Given the description of an element on the screen output the (x, y) to click on. 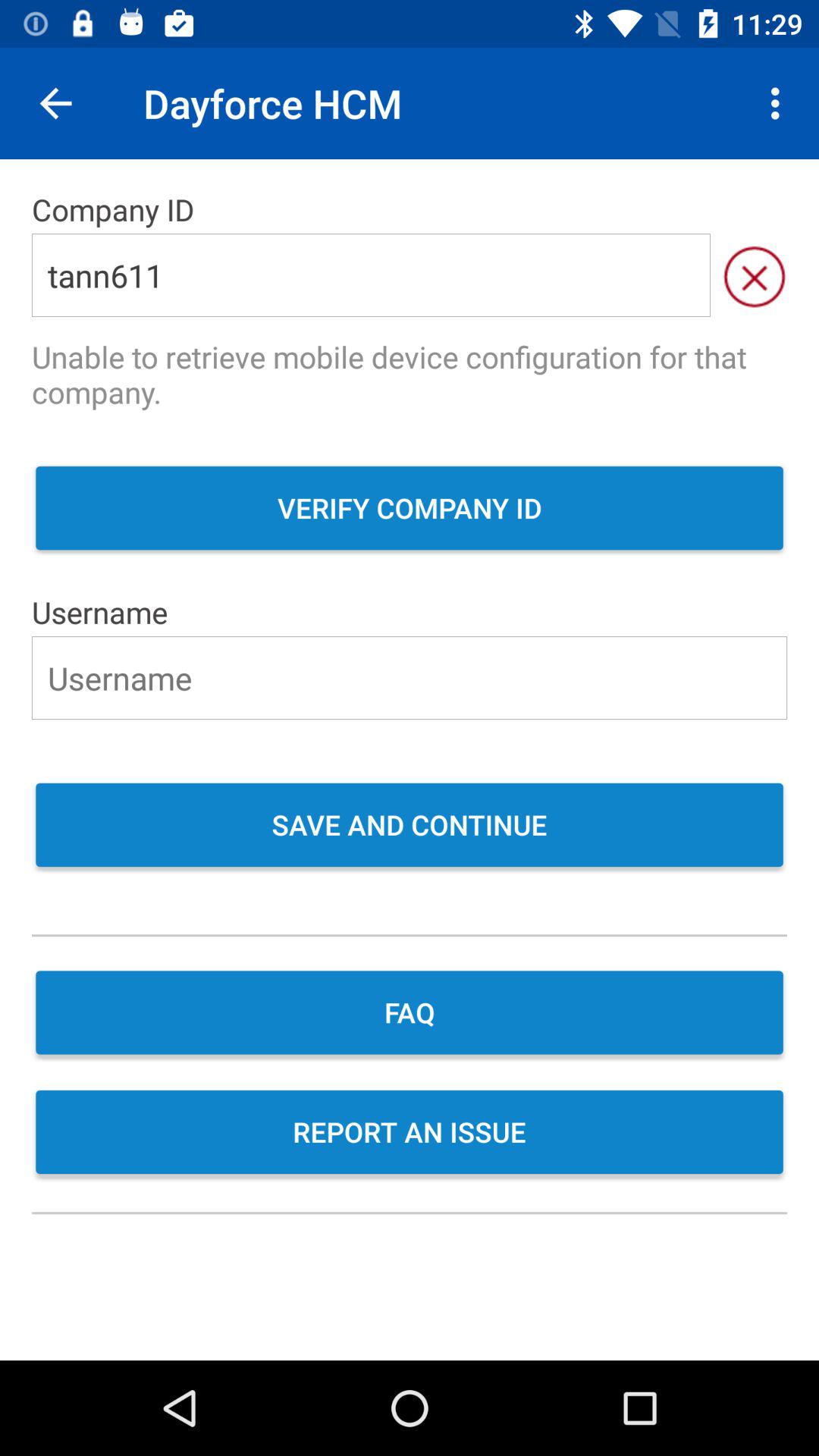
go to user name (409, 677)
